Given the description of an element on the screen output the (x, y) to click on. 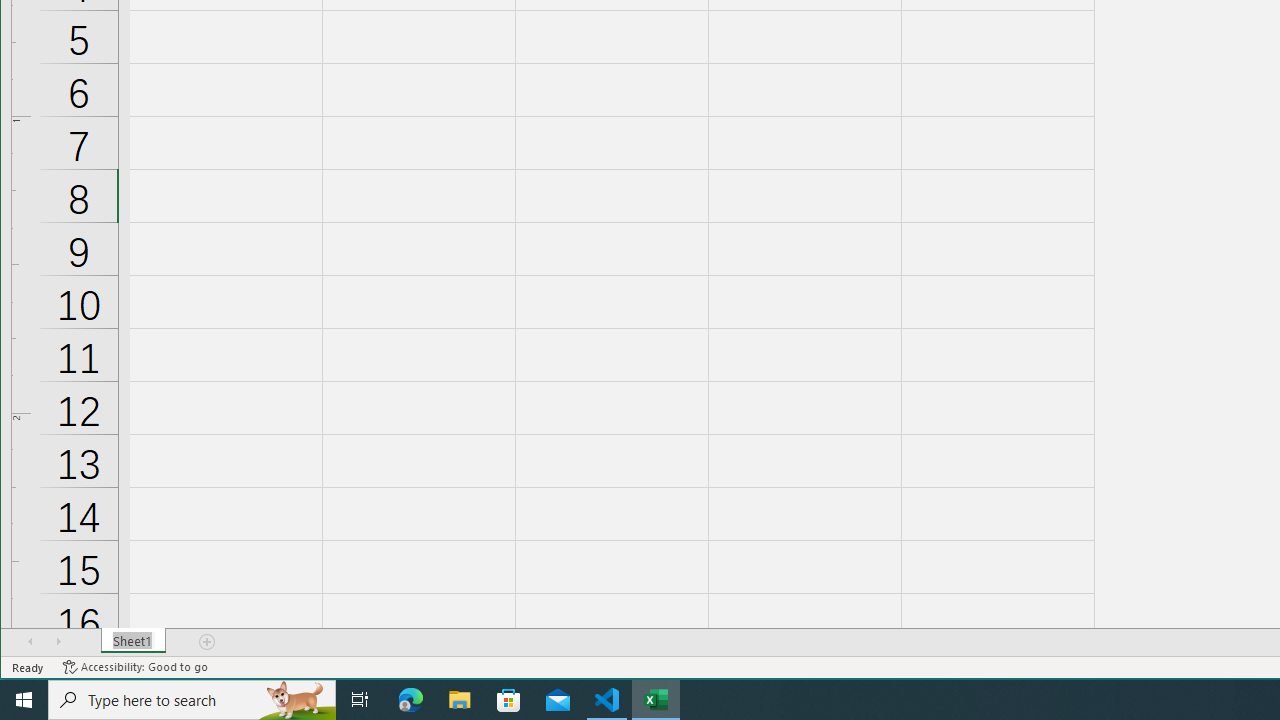
Visual Studio Code - 1 running window (607, 699)
Start (24, 699)
Search highlights icon opens search home window (295, 699)
Type here to search (191, 699)
File Explorer (460, 699)
Excel - 1 running window (656, 699)
Microsoft Edge (411, 699)
Task View (359, 699)
Microsoft Store (509, 699)
Sheet Tab (133, 641)
